Given the description of an element on the screen output the (x, y) to click on. 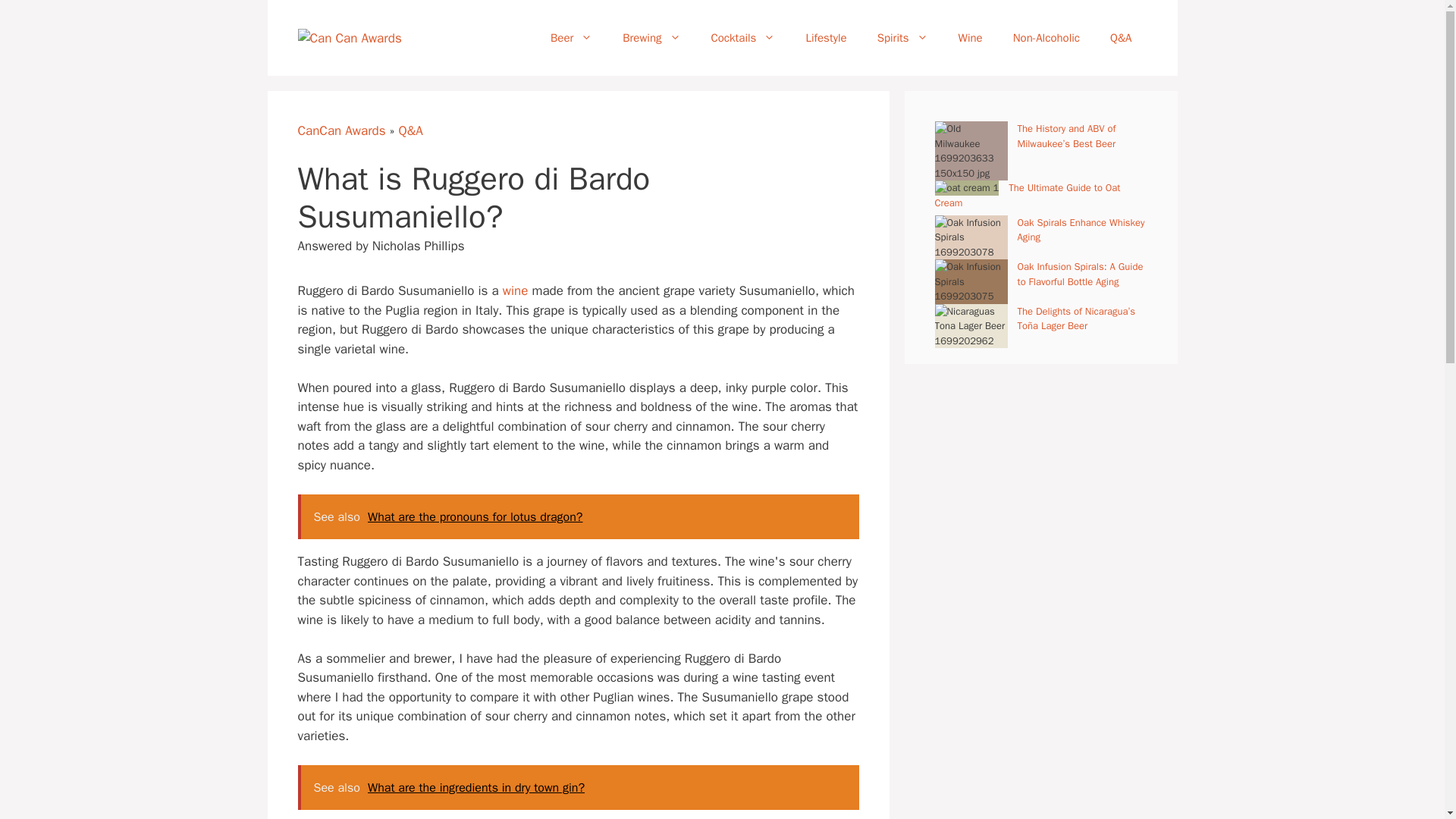
The Ultimate Guide to Oat Cream 2 (966, 187)
Brewing (651, 37)
Wine (970, 37)
Cocktails (742, 37)
The History and ABV of Milwaukee's Best Beer 1 (970, 150)
Spirits (902, 37)
Oak Infusion Spirals: A Guide to Flavorful Bottle Aging 4 (970, 281)
Beer (571, 37)
Oak Spirals Enhance Whiskey Aging 3 (970, 237)
Non-Alcoholic (1045, 37)
Lifestyle (825, 37)
